Given the description of an element on the screen output the (x, y) to click on. 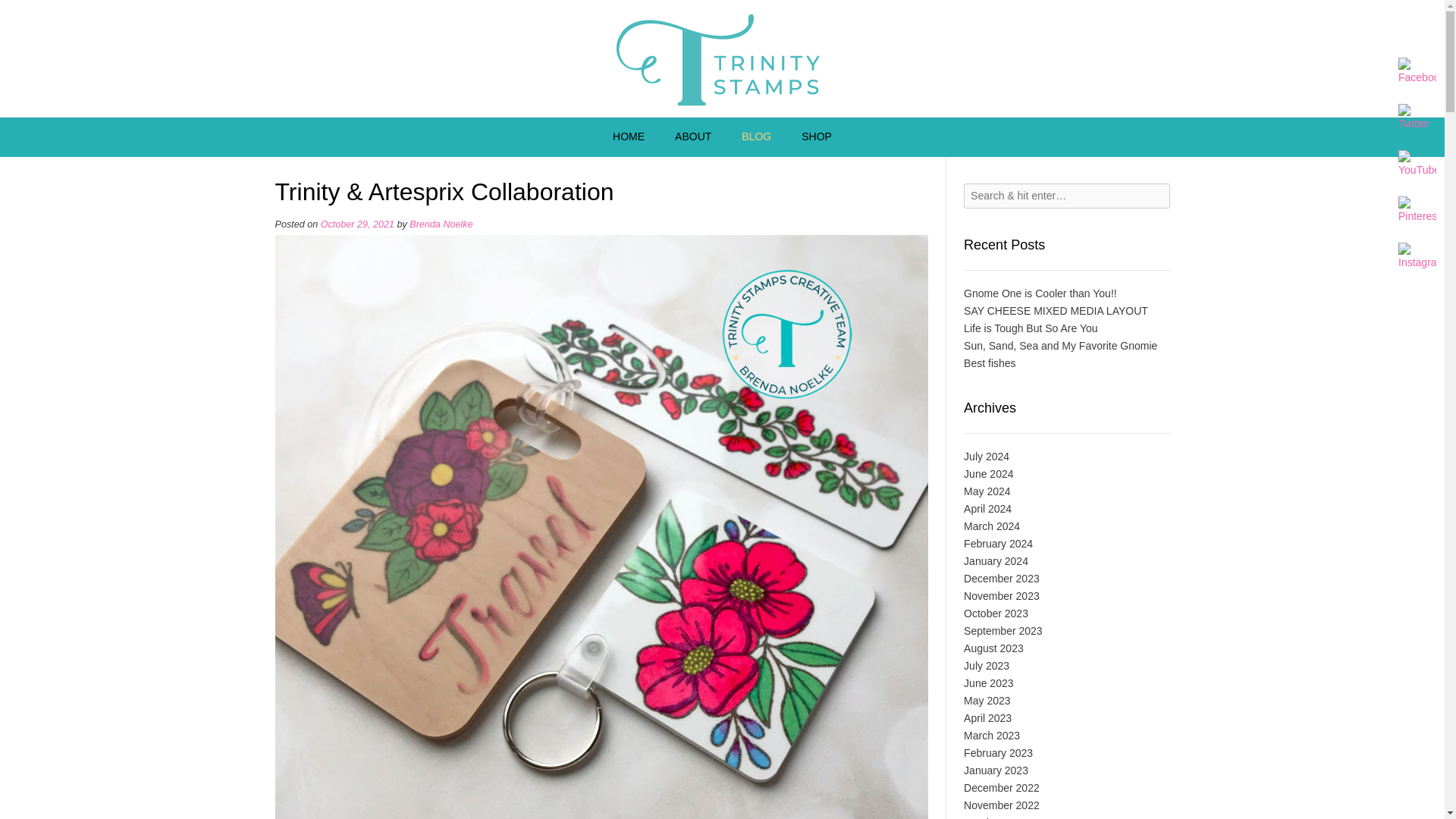
BLOG (756, 137)
SHOP (816, 137)
Brenda Noelke (440, 224)
ABOUT (692, 137)
Search for: (1066, 195)
Trinity Stamps (721, 58)
Facebook (1416, 71)
October 29, 2021 (357, 224)
Twitter (1416, 117)
SAY CHEESE MIXED MEDIA LAYOUT (1055, 310)
Life is Tough But So Are You (1030, 328)
HOME (627, 137)
Gnome One is Cooler than You!! (1039, 293)
